Given the description of an element on the screen output the (x, y) to click on. 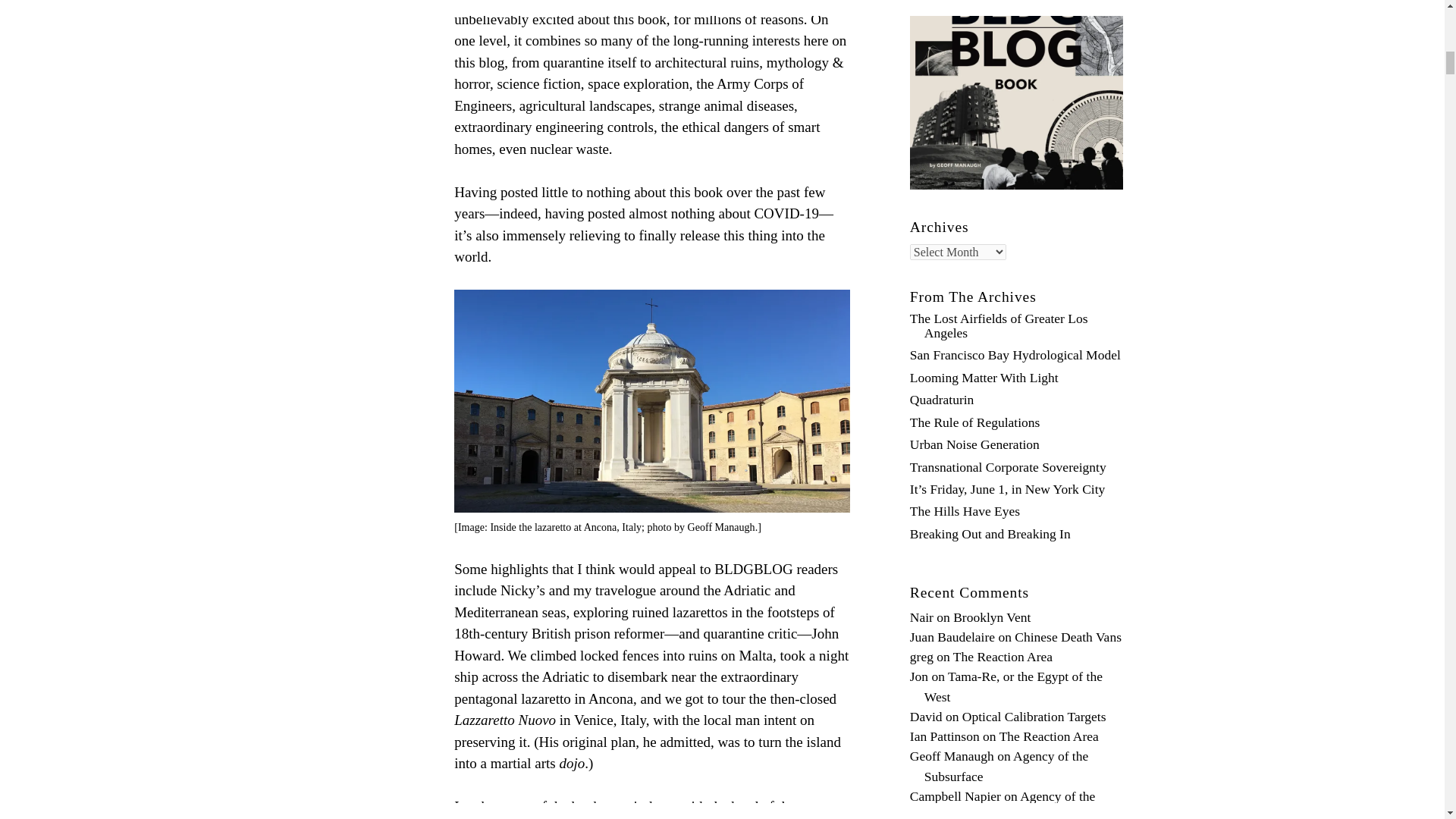
From The Archives (973, 296)
